Given the description of an element on the screen output the (x, y) to click on. 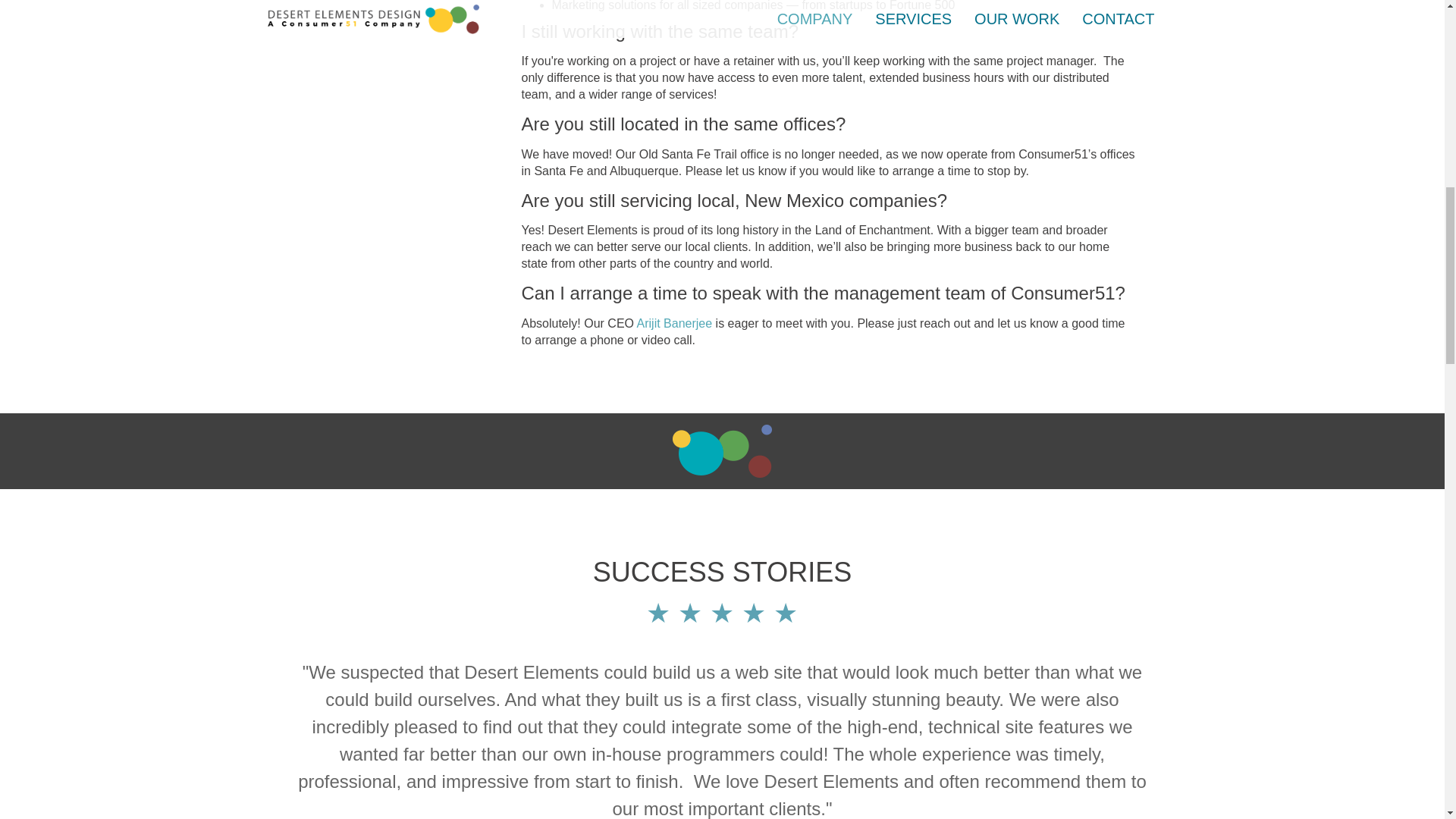
Arijit Banerjee (675, 323)
